Given the description of an element on the screen output the (x, y) to click on. 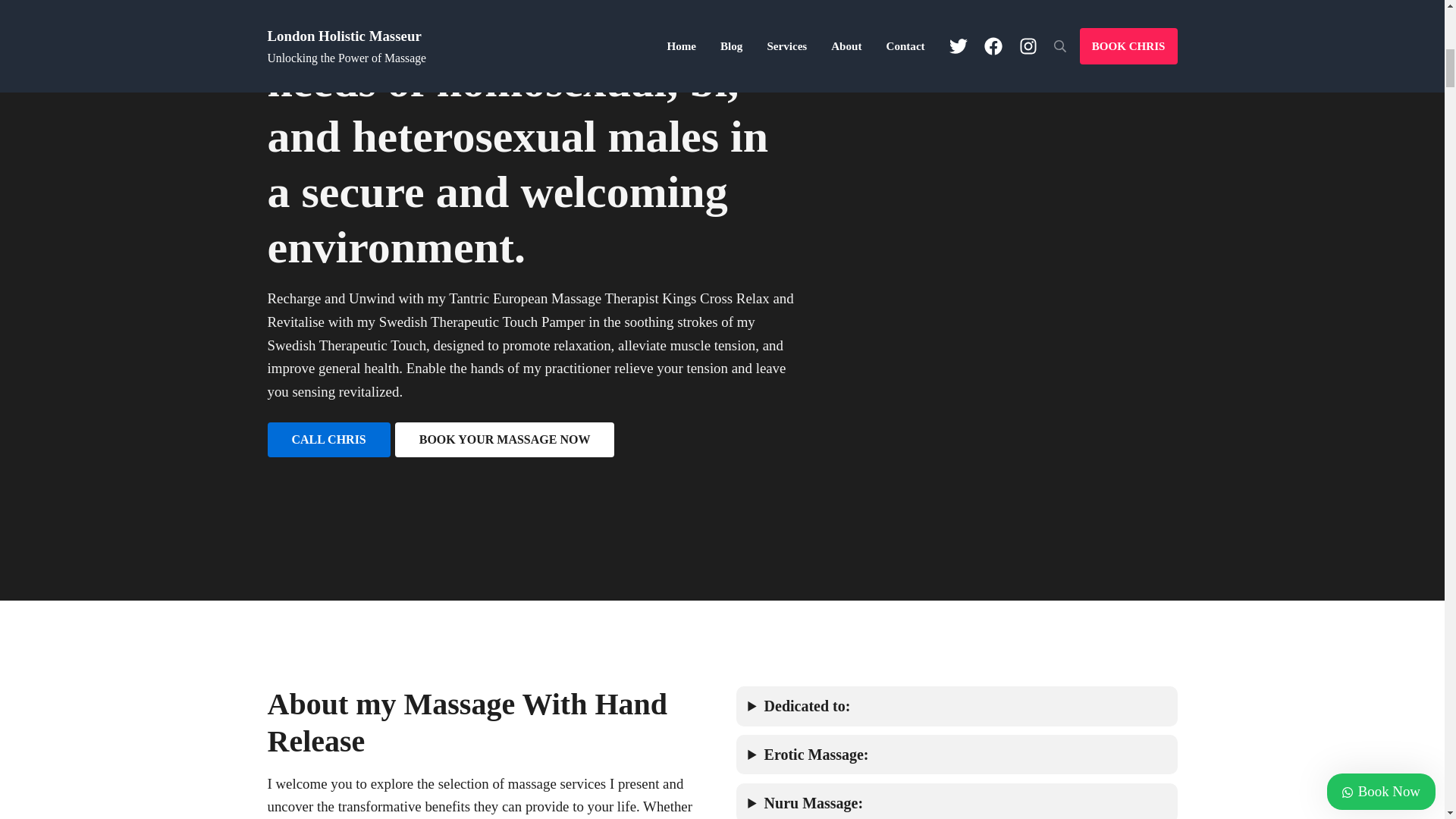
BOOK YOUR MASSAGE NOW (504, 439)
CALL CHRIS (328, 439)
